Given the description of an element on the screen output the (x, y) to click on. 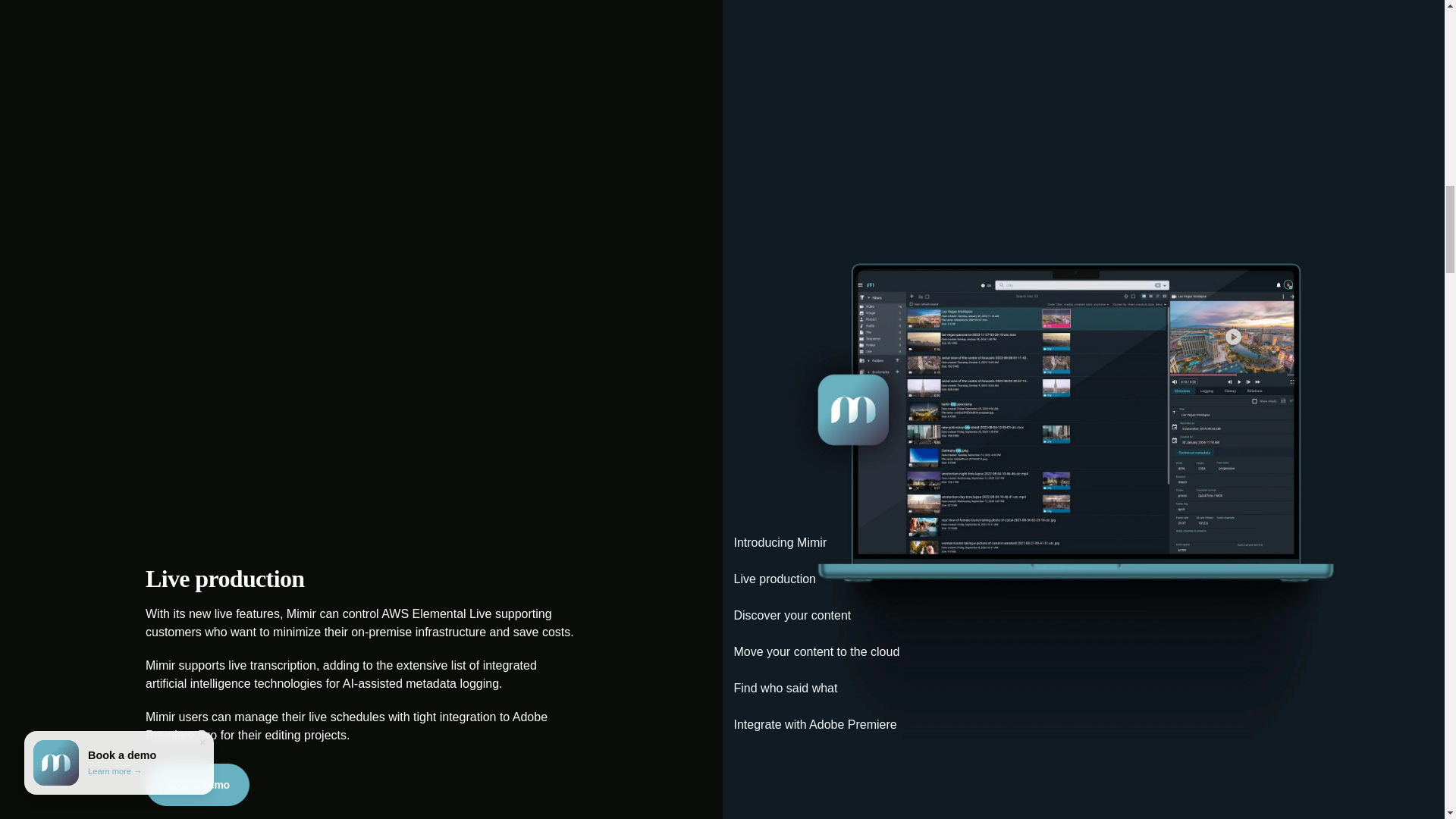
Book a demo (196, 784)
